Given the description of an element on the screen output the (x, y) to click on. 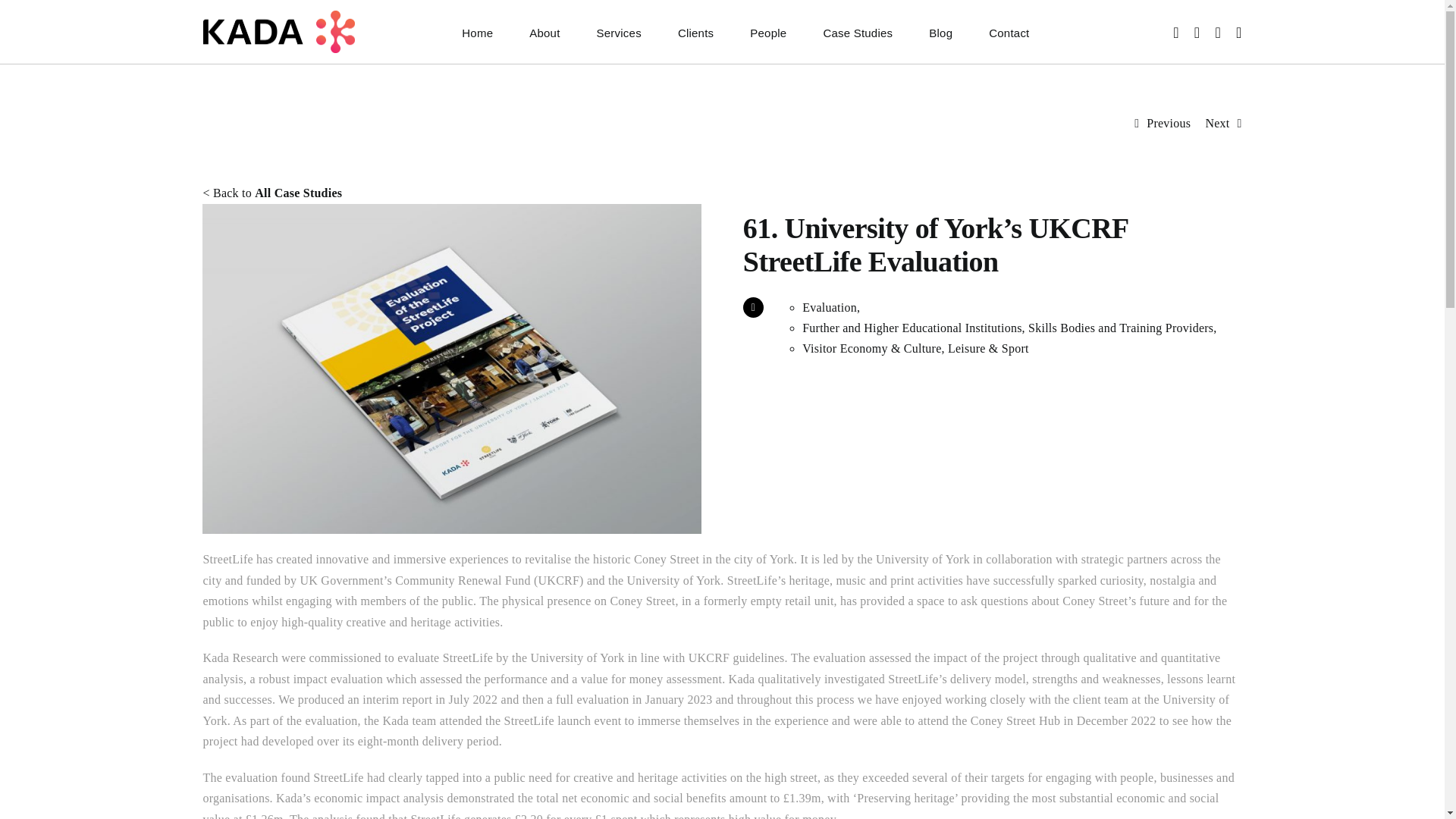
Previous (1169, 123)
Evaluation (829, 307)
Case Studies (857, 31)
Next (1216, 123)
